Given the description of an element on the screen output the (x, y) to click on. 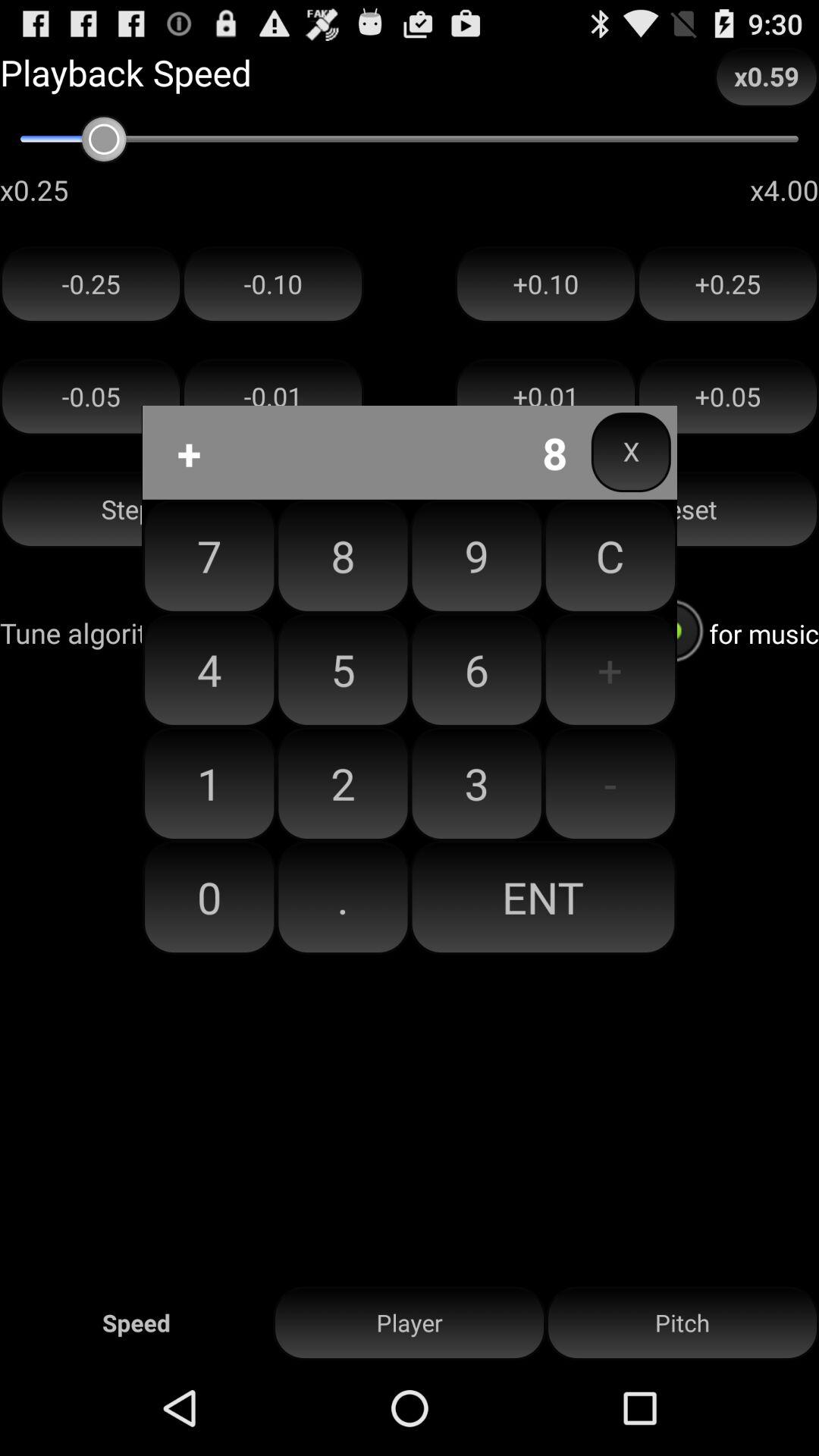
choose the 3 button (476, 783)
